Given the description of an element on the screen output the (x, y) to click on. 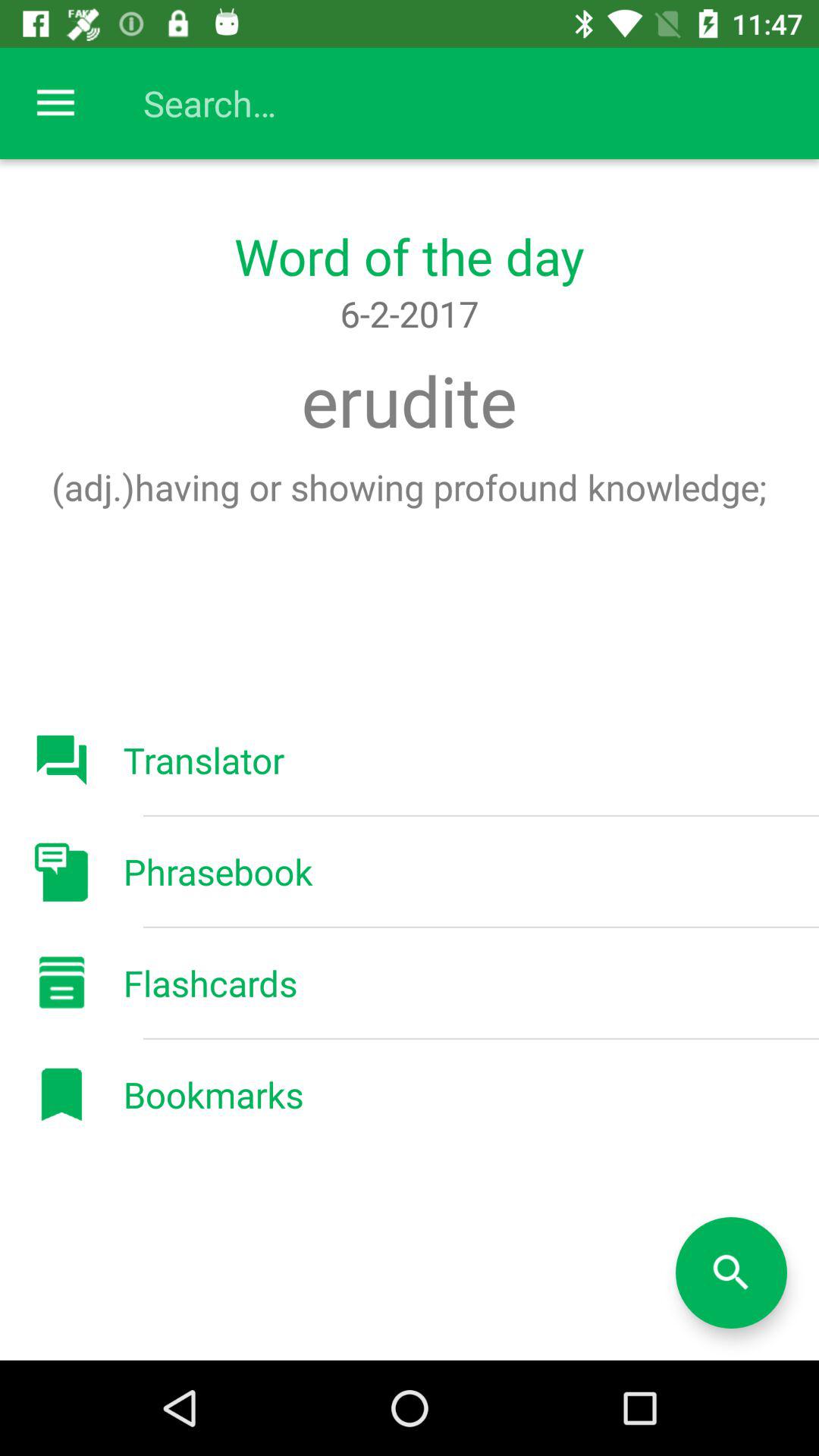
jump until the erudite (408, 399)
